Given the description of an element on the screen output the (x, y) to click on. 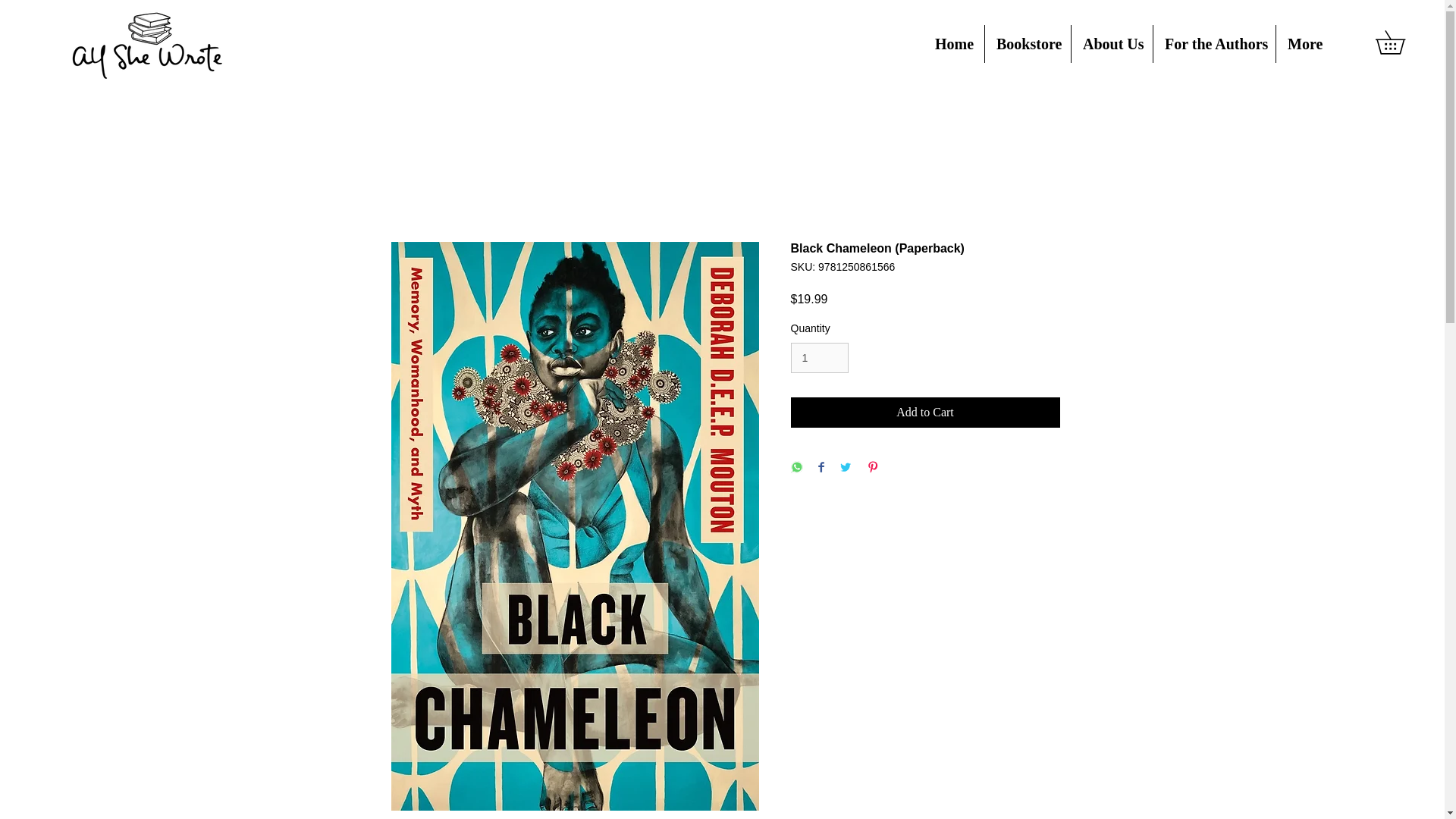
Home (953, 44)
For the Authors (1214, 44)
About Us (1112, 44)
1 (818, 358)
Bookstore (1027, 44)
Add to Cart (924, 412)
